Given the description of an element on the screen output the (x, y) to click on. 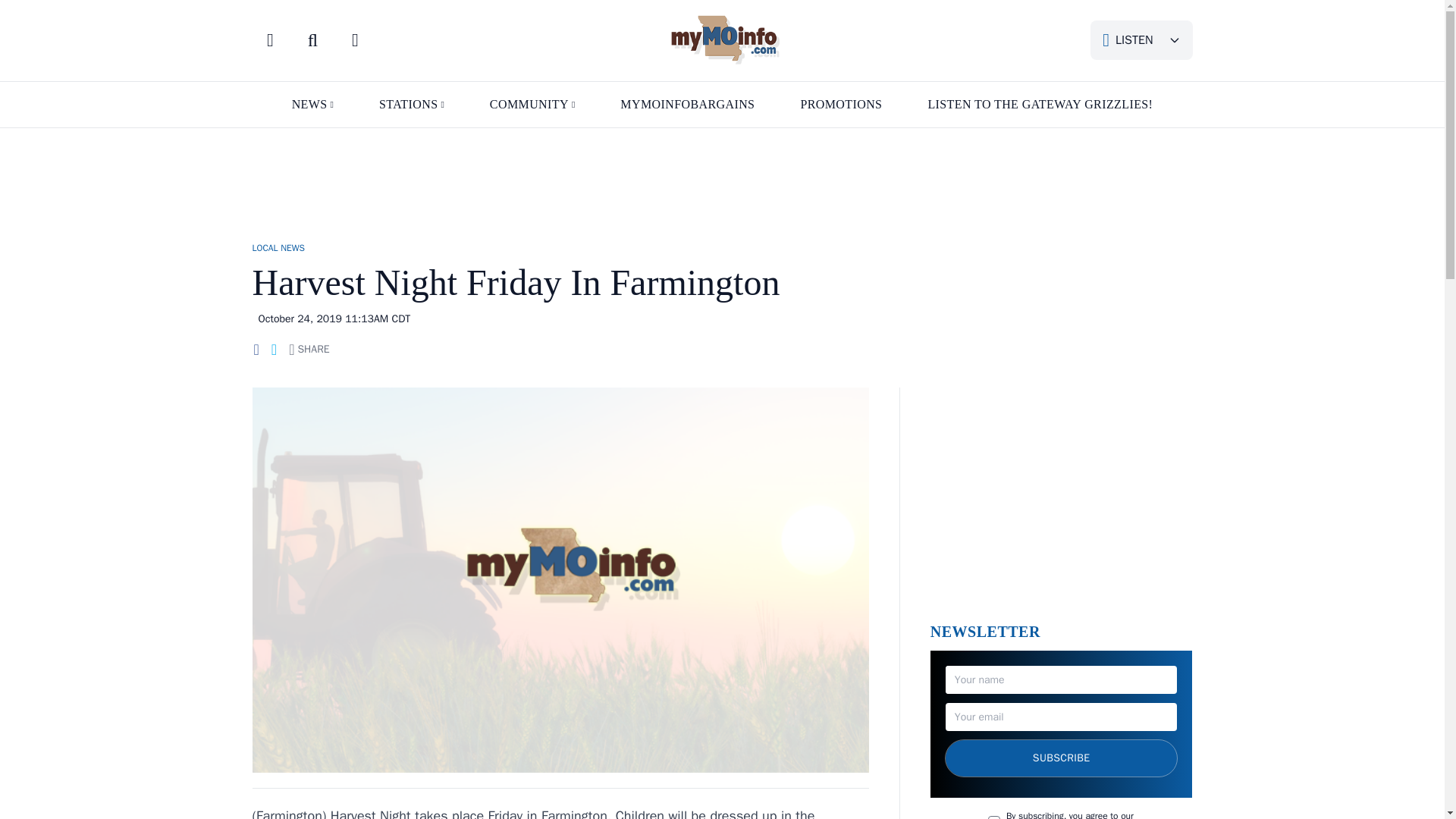
Signup Terms Agree (994, 817)
3rd party ad content (721, 177)
3rd party ad content (1060, 497)
